Given the description of an element on the screen output the (x, y) to click on. 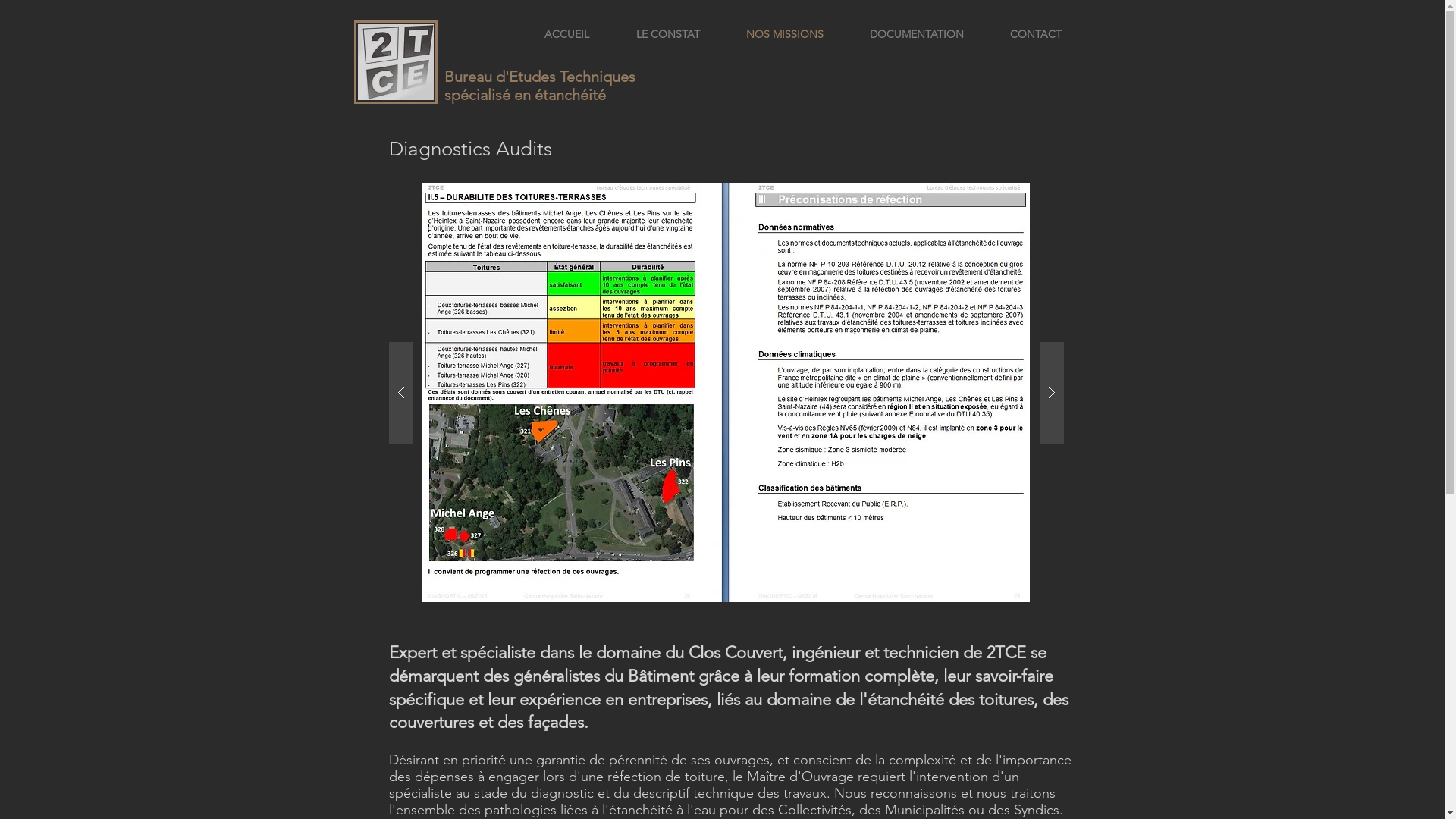
DOCUMENTATION Element type: text (916, 33)
LE CONSTAT Element type: text (667, 33)
NOS MISSIONS Element type: text (785, 33)
ACCUEIL Element type: text (565, 33)
CONTACT Element type: text (1036, 33)
